Given the description of an element on the screen output the (x, y) to click on. 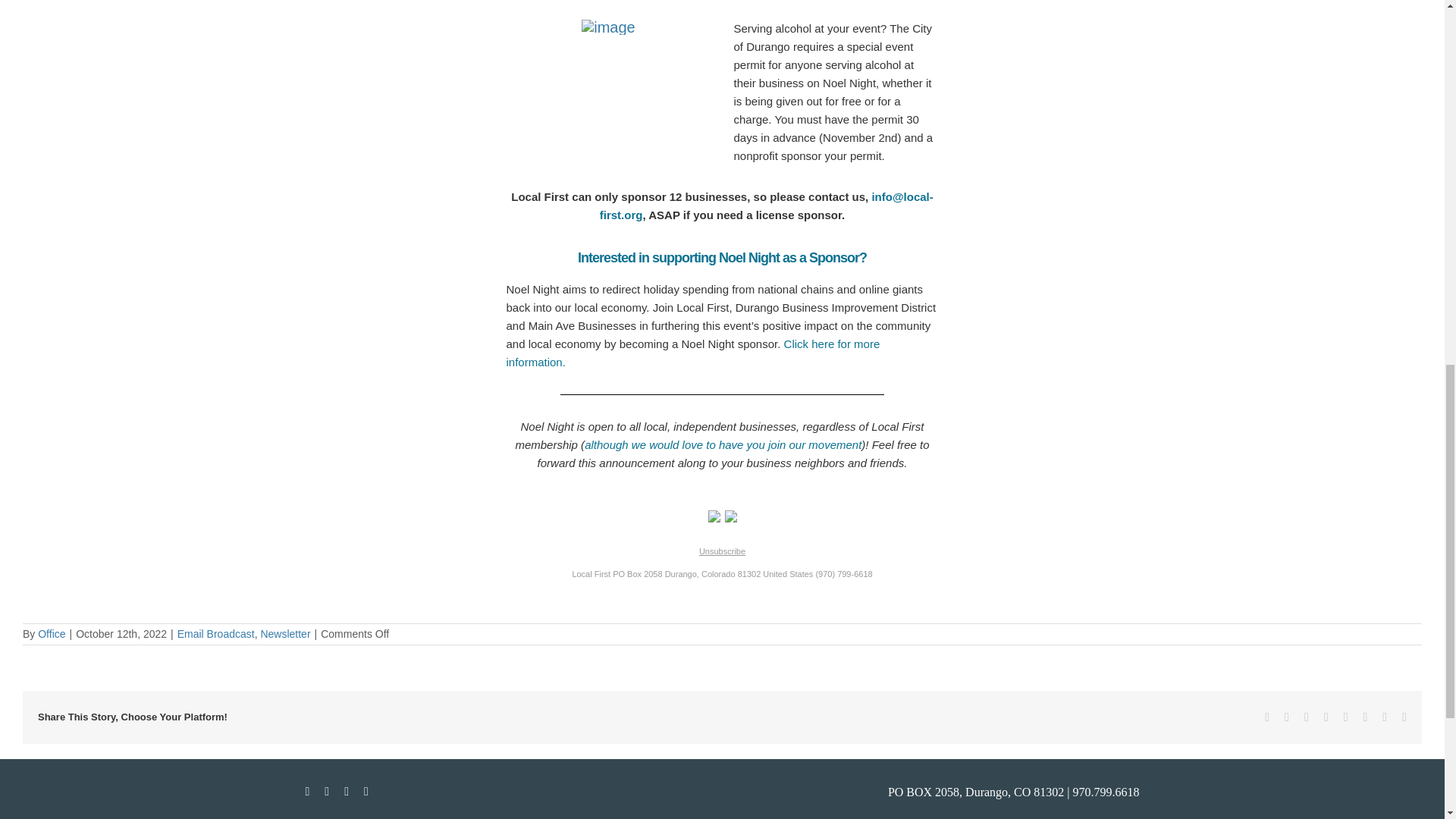
Reddit (1306, 717)
Tumblr (1345, 717)
Email (1404, 717)
X (1286, 717)
LinkedIn (1325, 717)
Pinterest (1364, 717)
Vk (1384, 717)
Facebook (1267, 717)
Posts by Office (51, 633)
